Given the description of an element on the screen output the (x, y) to click on. 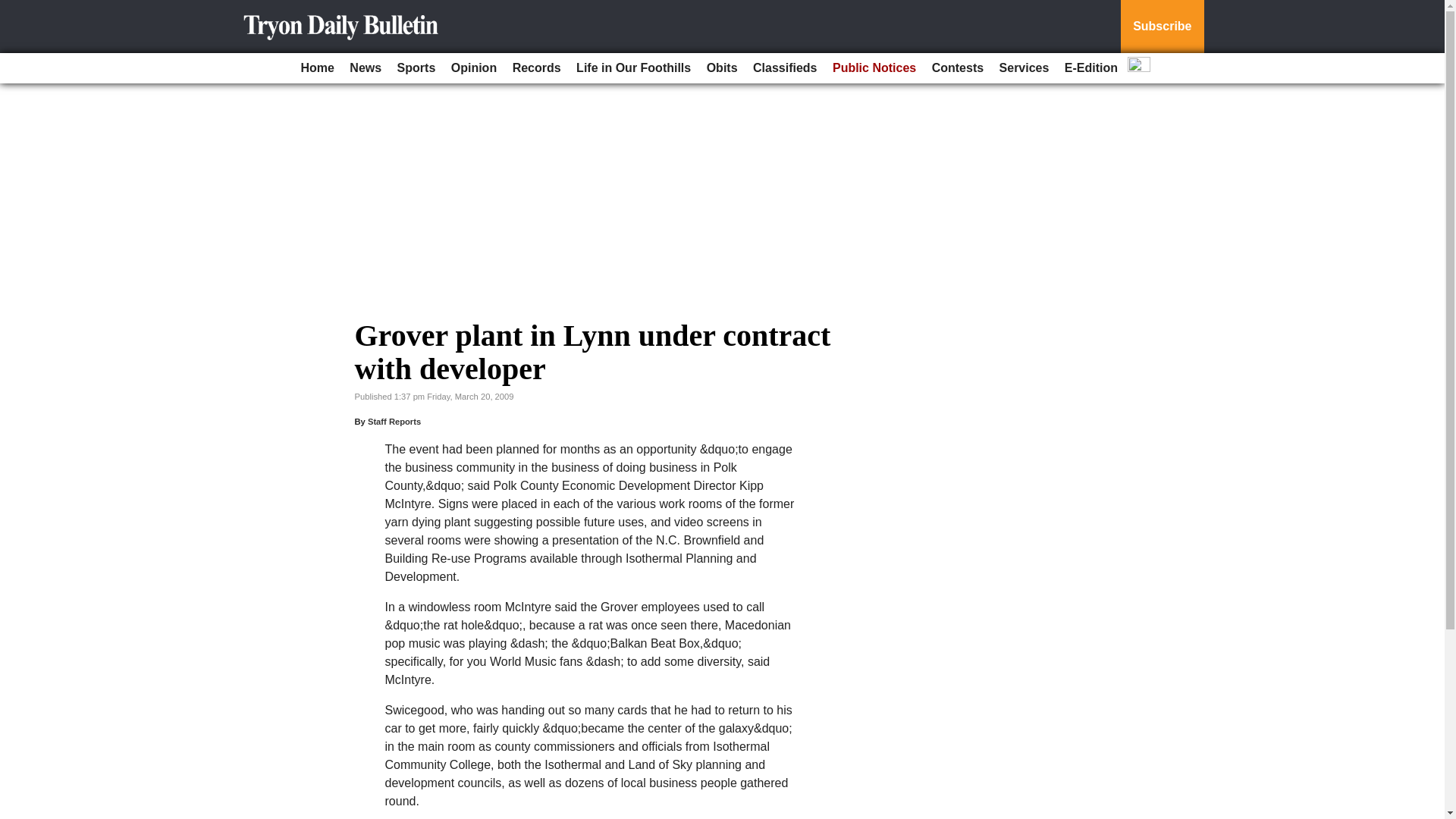
E-Edition (1091, 68)
Opinion (473, 68)
Go (13, 9)
Services (1023, 68)
Obits (722, 68)
Classifieds (784, 68)
Public Notices (874, 68)
Sports (416, 68)
Life in Our Foothills (633, 68)
Staff Reports (394, 420)
